Given the description of an element on the screen output the (x, y) to click on. 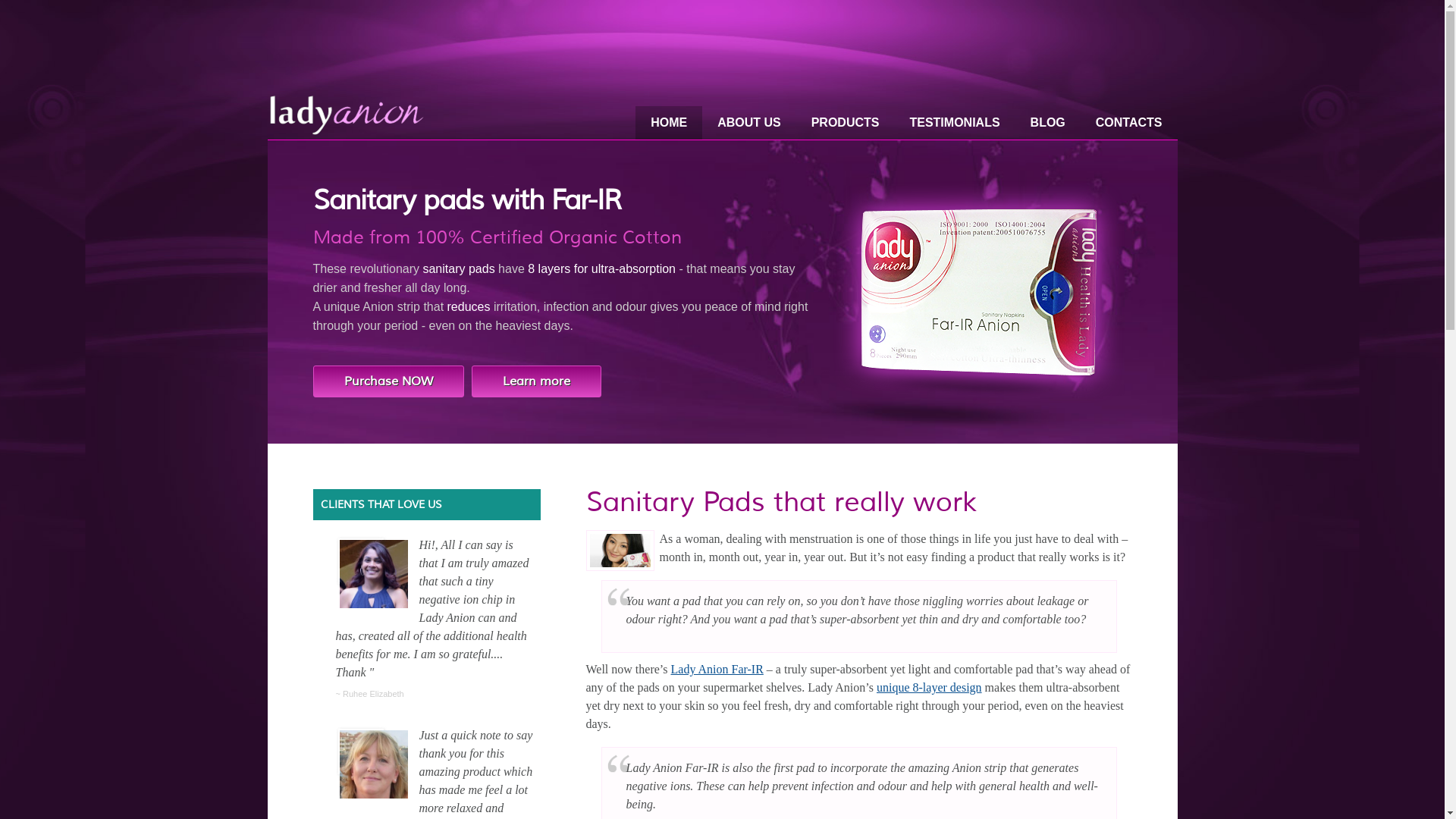
PRODUCTS Element type: text (845, 122)
BLOG Element type: text (1047, 122)
ABOUT US Element type: text (749, 122)
Purchase NOW Element type: text (387, 381)
unique 8-layer design Element type: text (929, 686)
HOME Element type: text (668, 122)
TESTIMONIALS Element type: text (954, 122)
CONTACTS Element type: text (1128, 122)
Learn more Element type: text (536, 381)
Lady Anion Far-IR Element type: text (717, 668)
